Given the description of an element on the screen output the (x, y) to click on. 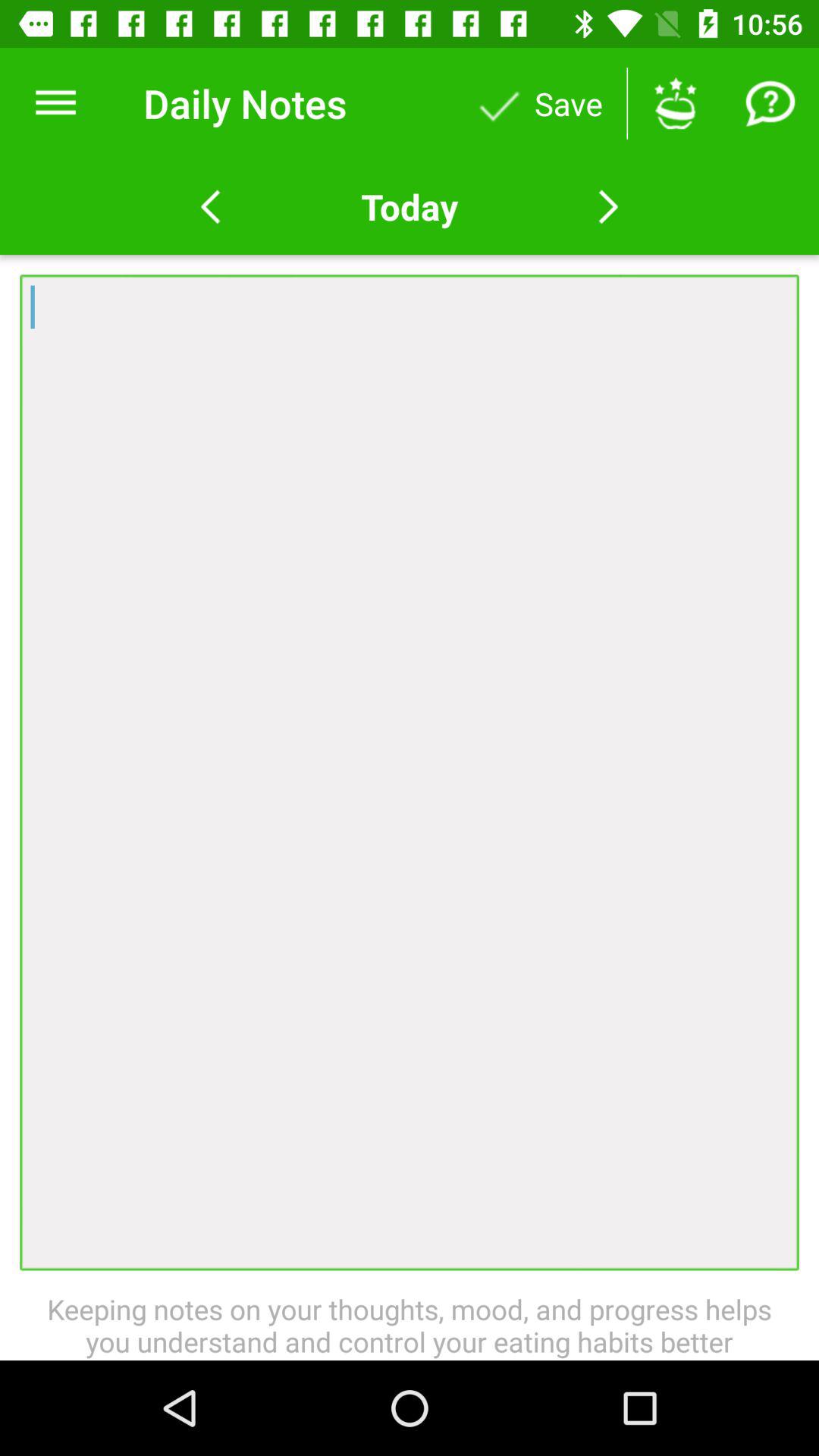
go to previous day (210, 206)
